Given the description of an element on the screen output the (x, y) to click on. 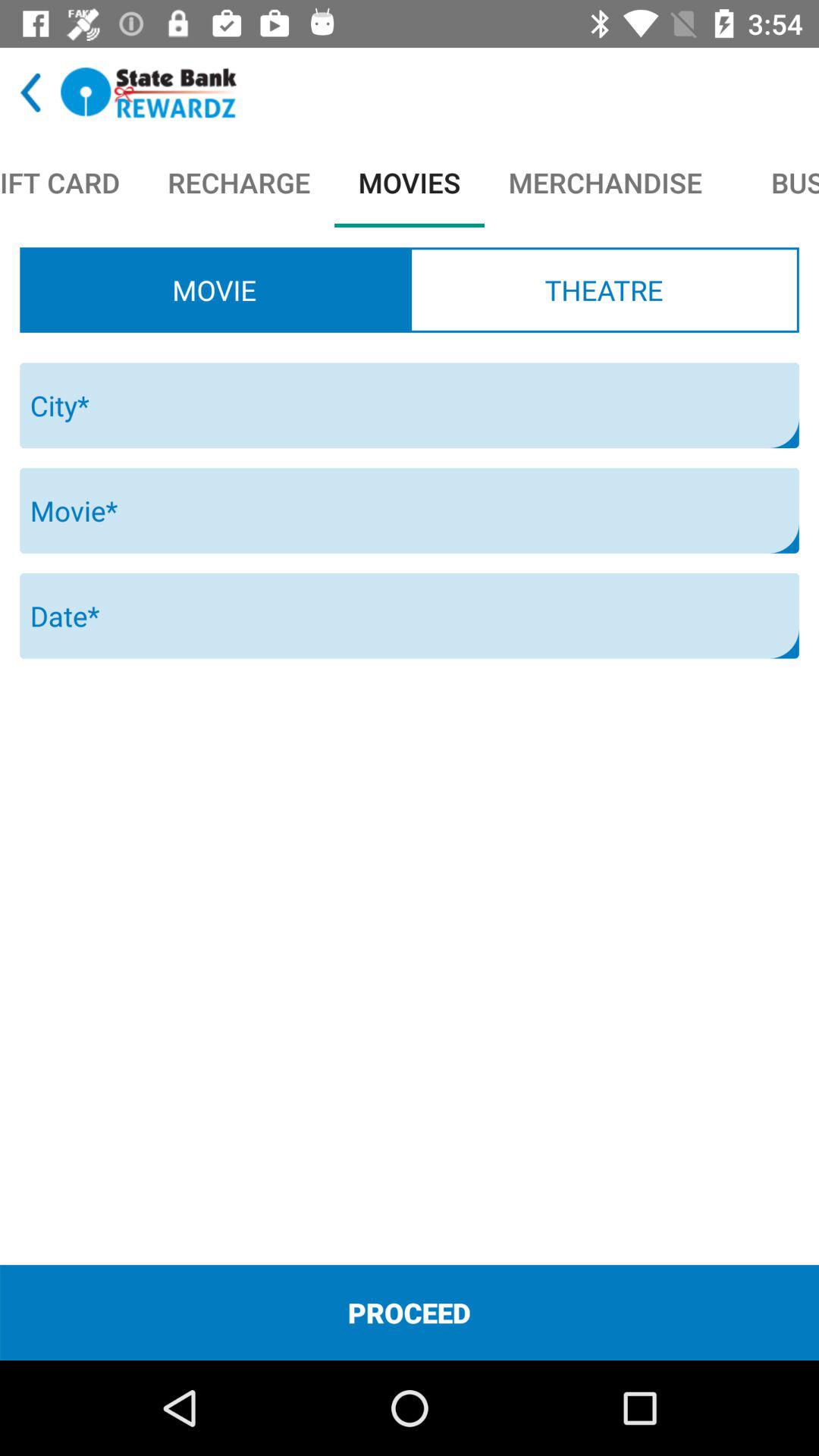
turn off the icon below movie radio button (409, 405)
